Given the description of an element on the screen output the (x, y) to click on. 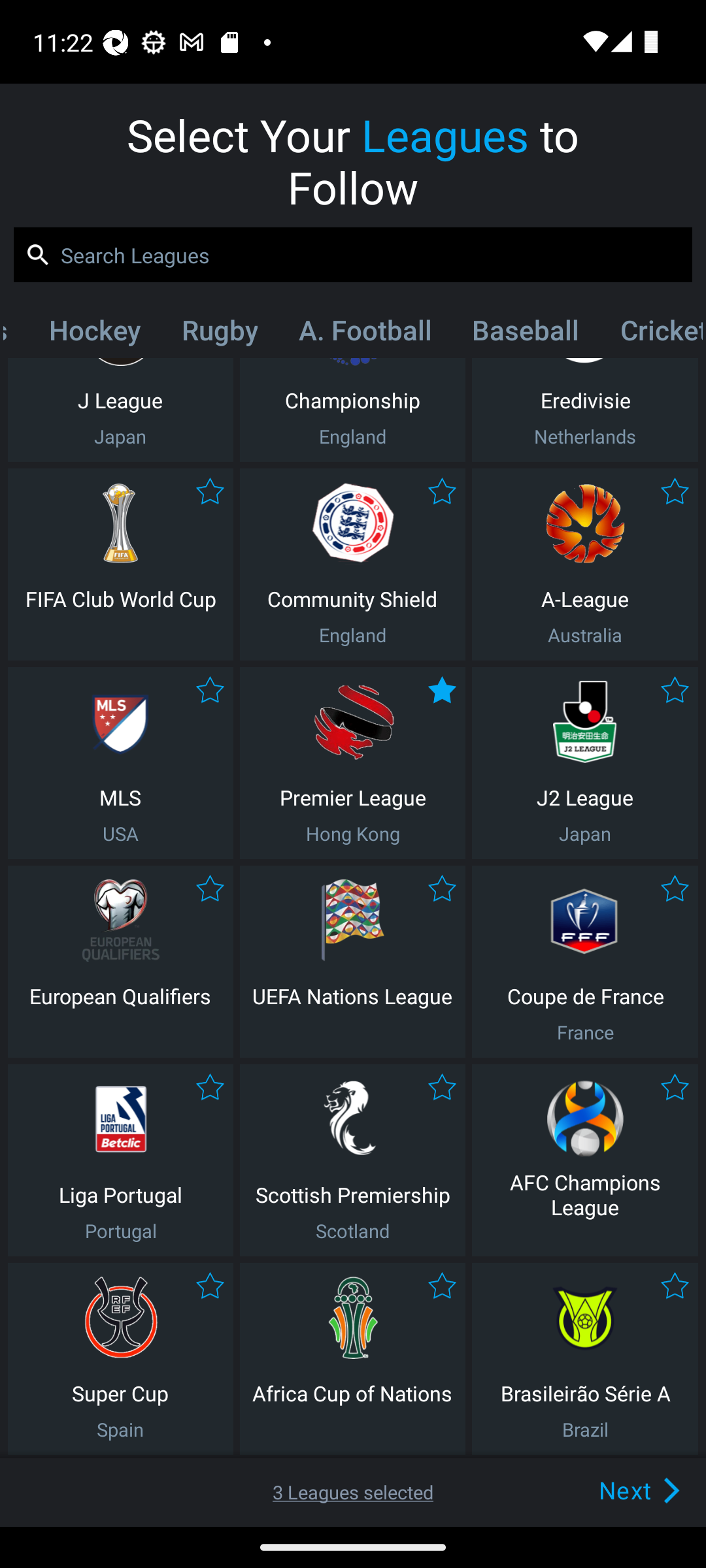
Search Leagues (352, 254)
Hockey (94, 333)
Rugby (219, 333)
A. Football (364, 333)
Baseball (525, 333)
Cricket (650, 333)
FIFA Club World Cup (120, 564)
Community Shield England (352, 564)
A-League Australia (585, 564)
MLS USA (120, 762)
Premier League Hong Kong (352, 762)
J2 League Japan (585, 762)
European Qualifiers (120, 961)
UEFA Nations League (352, 961)
Coupe de France France (585, 961)
Liga Portugal Portugal (120, 1159)
Scottish Premiership Scotland (352, 1159)
AFC Champions League (585, 1159)
Super Cup Spain (120, 1358)
Africa Cup of Nations (352, 1358)
Brasileirão Série A Brazil (585, 1358)
Next (609, 1489)
3 Leagues selected (352, 1491)
